Given the description of an element on the screen output the (x, y) to click on. 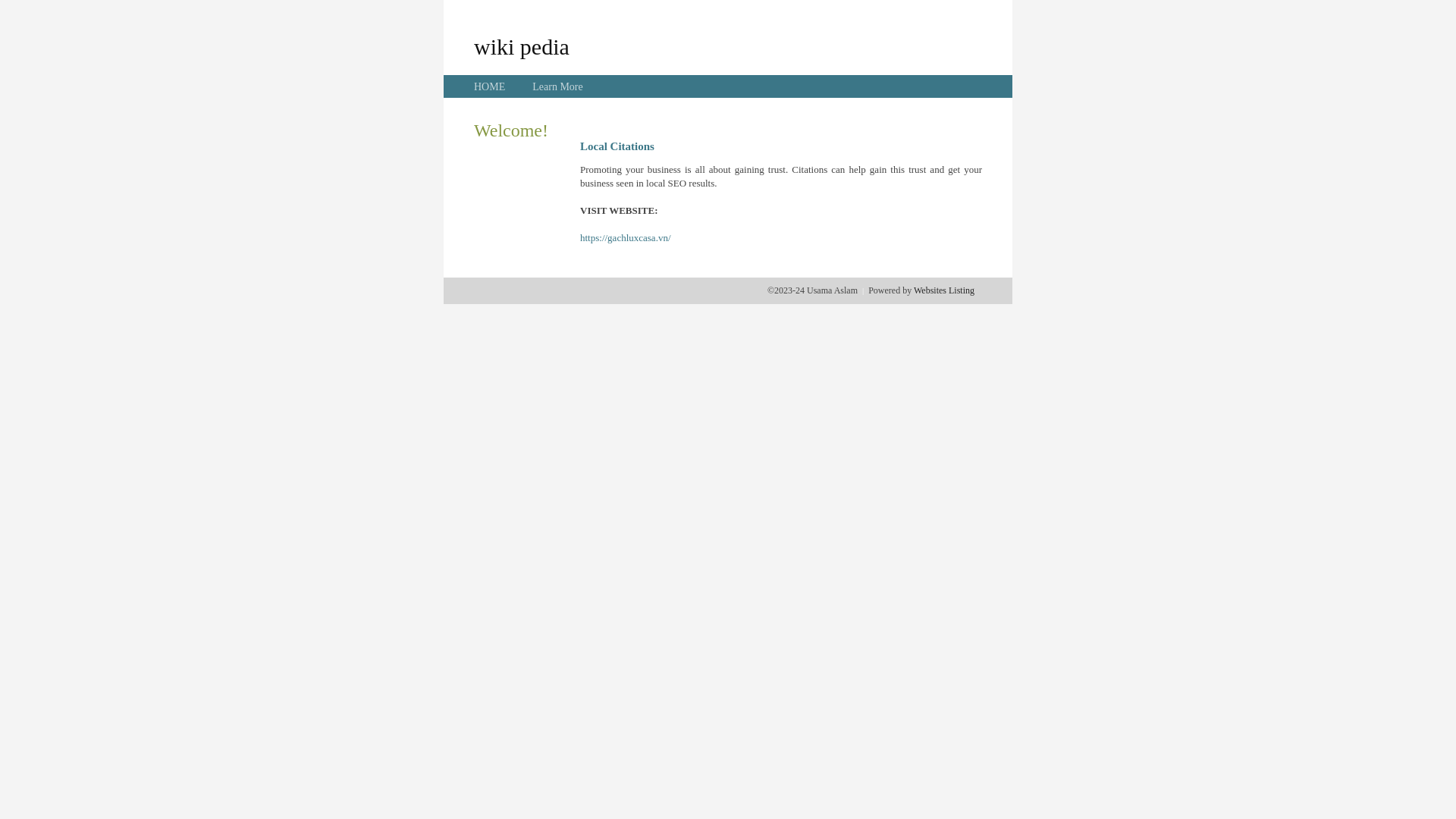
HOME Element type: text (489, 86)
Websites Listing Element type: text (943, 290)
Learn More Element type: text (557, 86)
https://gachluxcasa.vn/ Element type: text (625, 237)
wiki pedia Element type: text (521, 46)
